Given the description of an element on the screen output the (x, y) to click on. 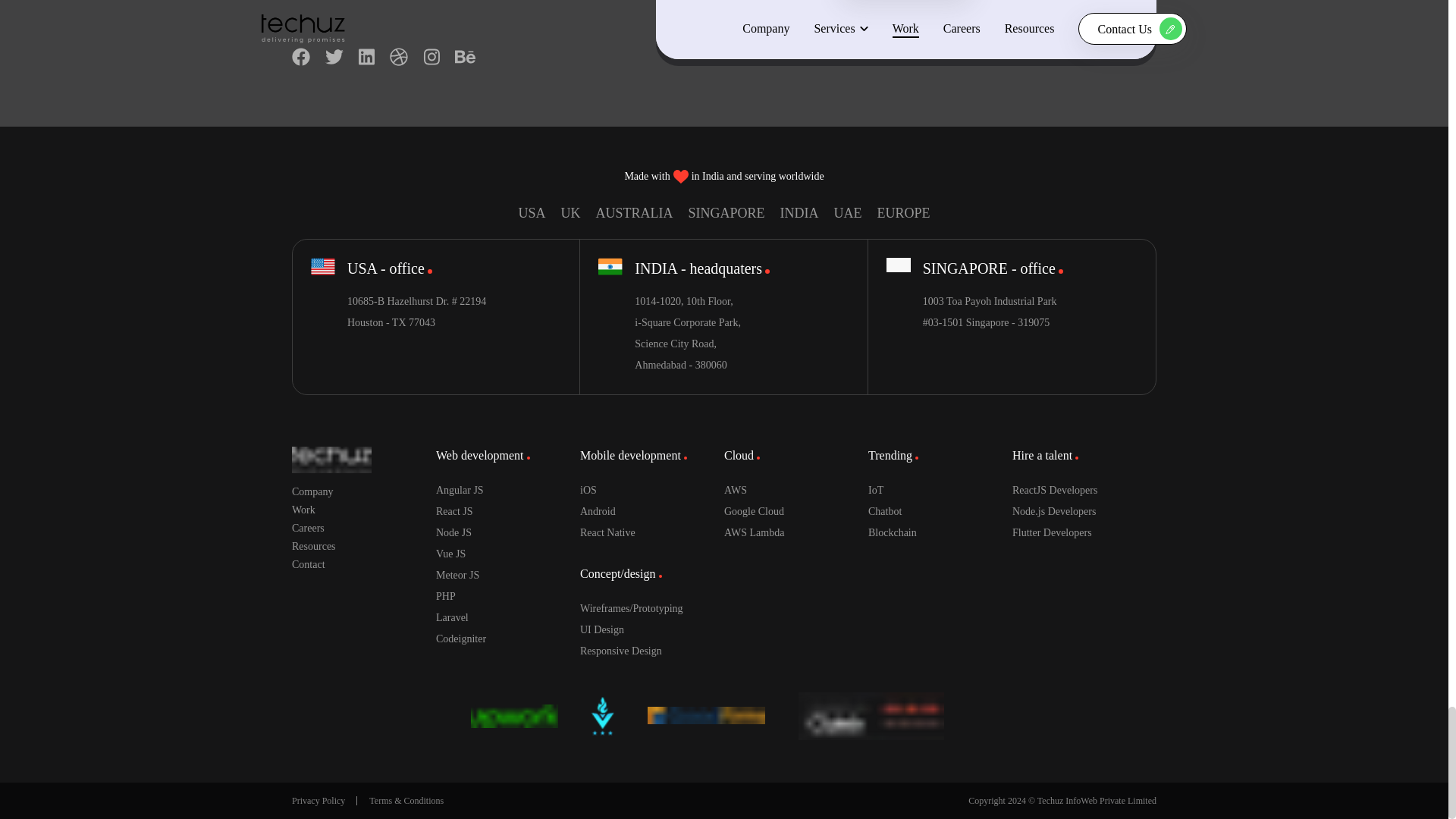
Mobile development (633, 454)
Vue JS (507, 554)
Company (363, 491)
Careers (363, 528)
Contact (363, 564)
Meteor JS (507, 575)
Angular JS (507, 490)
Web development (482, 454)
Laravel (507, 617)
PHP (507, 596)
